Given the description of an element on the screen output the (x, y) to click on. 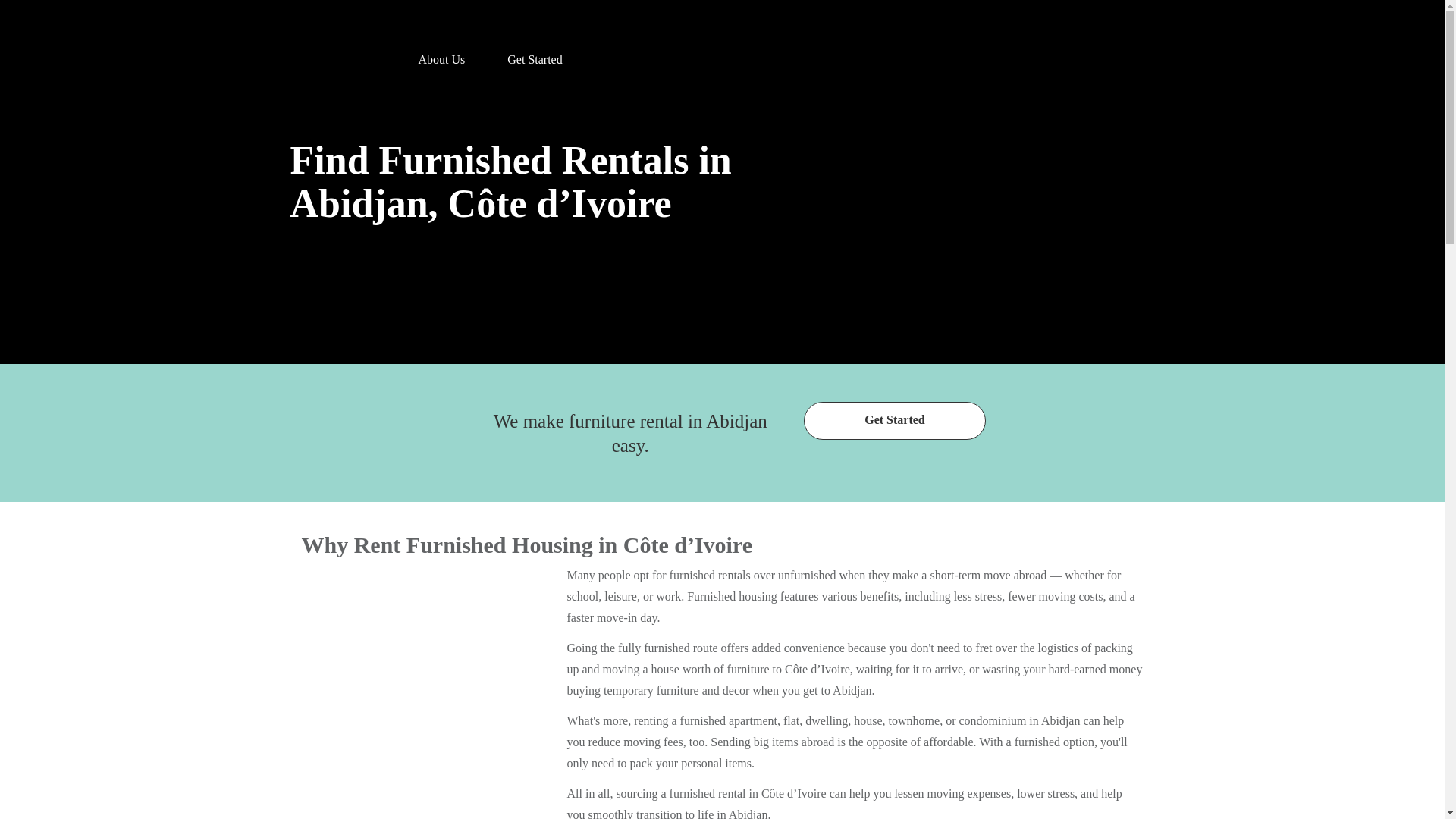
Get Started (894, 420)
Get Started (534, 53)
